Given the description of an element on the screen output the (x, y) to click on. 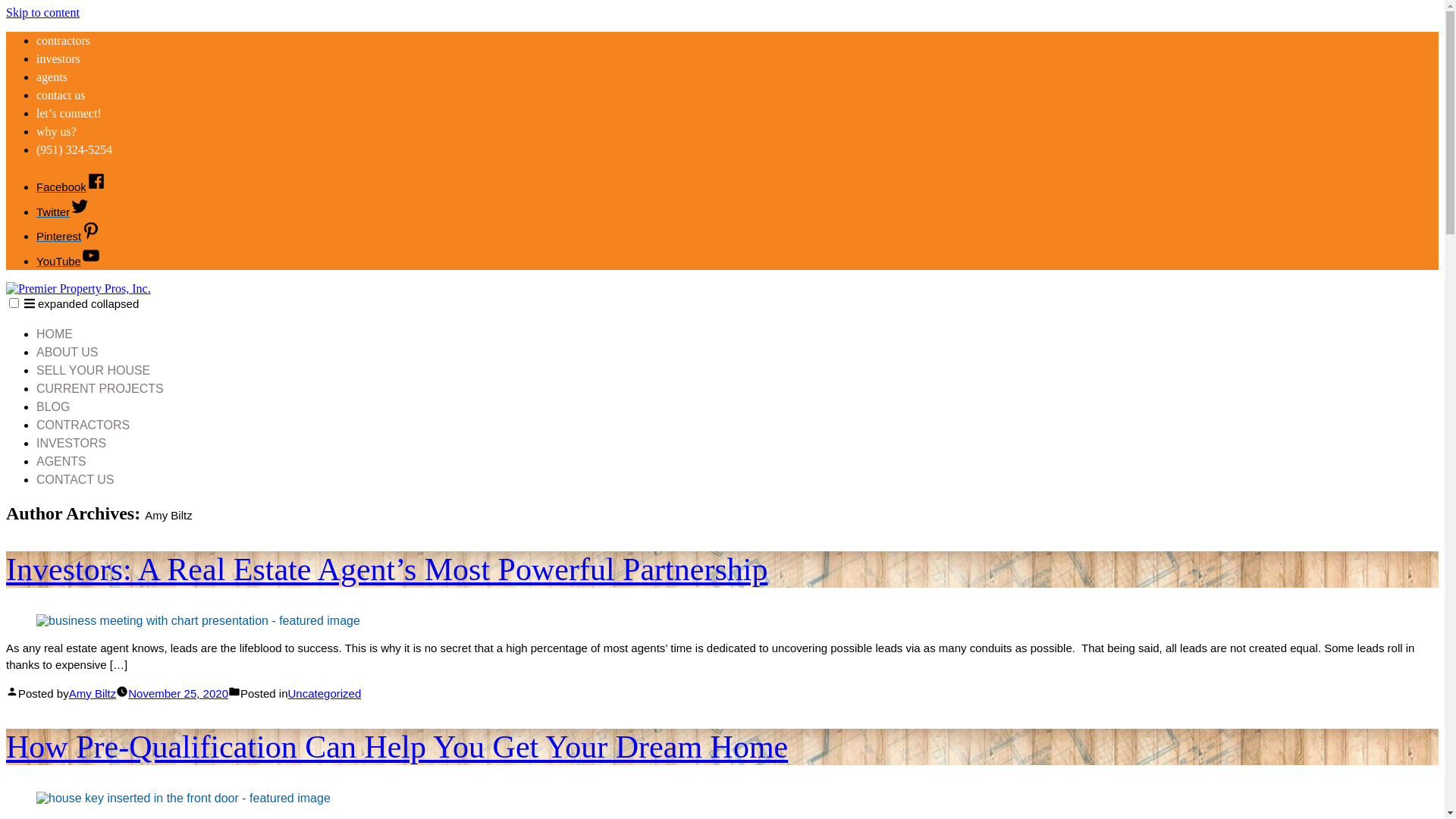
Uncategorized Element type: text (324, 693)
Amy Biltz Element type: text (92, 693)
HOME Element type: text (54, 333)
Facebook Element type: text (71, 186)
Twitter Element type: text (62, 210)
SELL YOUR HOUSE Element type: text (93, 370)
CONTRACTORS Element type: text (82, 424)
Pinterest Element type: text (68, 235)
Skip to content Element type: text (42, 12)
agents Element type: text (51, 76)
ABOUT US Element type: text (67, 351)
CONTACT US Element type: text (75, 479)
why us? Element type: text (56, 131)
AGENTS Element type: text (61, 461)
Premier Property Pros, Inc. Element type: text (74, 314)
CURRENT PROJECTS Element type: text (99, 388)
YouTube Element type: text (68, 260)
BLOG Element type: text (52, 406)
November 25, 2020 Element type: text (178, 693)
INVESTORS Element type: text (71, 442)
contact us Element type: text (60, 94)
investors Element type: text (58, 58)
How Pre-Qualification Can Help You Get Your Dream Home Element type: text (396, 746)
(951) 324-5254 Element type: text (74, 149)
contractors Element type: text (63, 40)
